Given the description of an element on the screen output the (x, y) to click on. 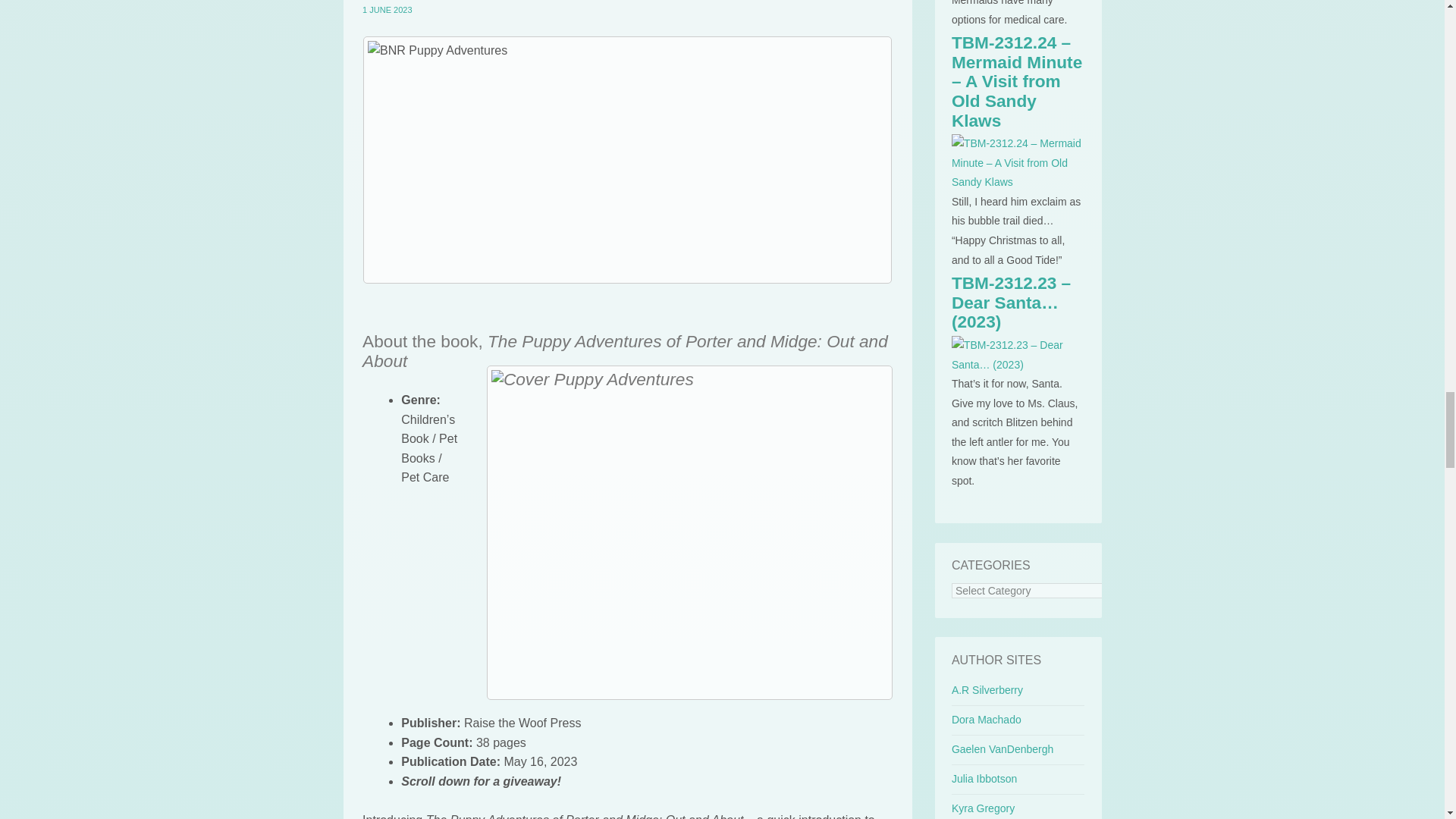
07:00 (387, 9)
